Given the description of an element on the screen output the (x, y) to click on. 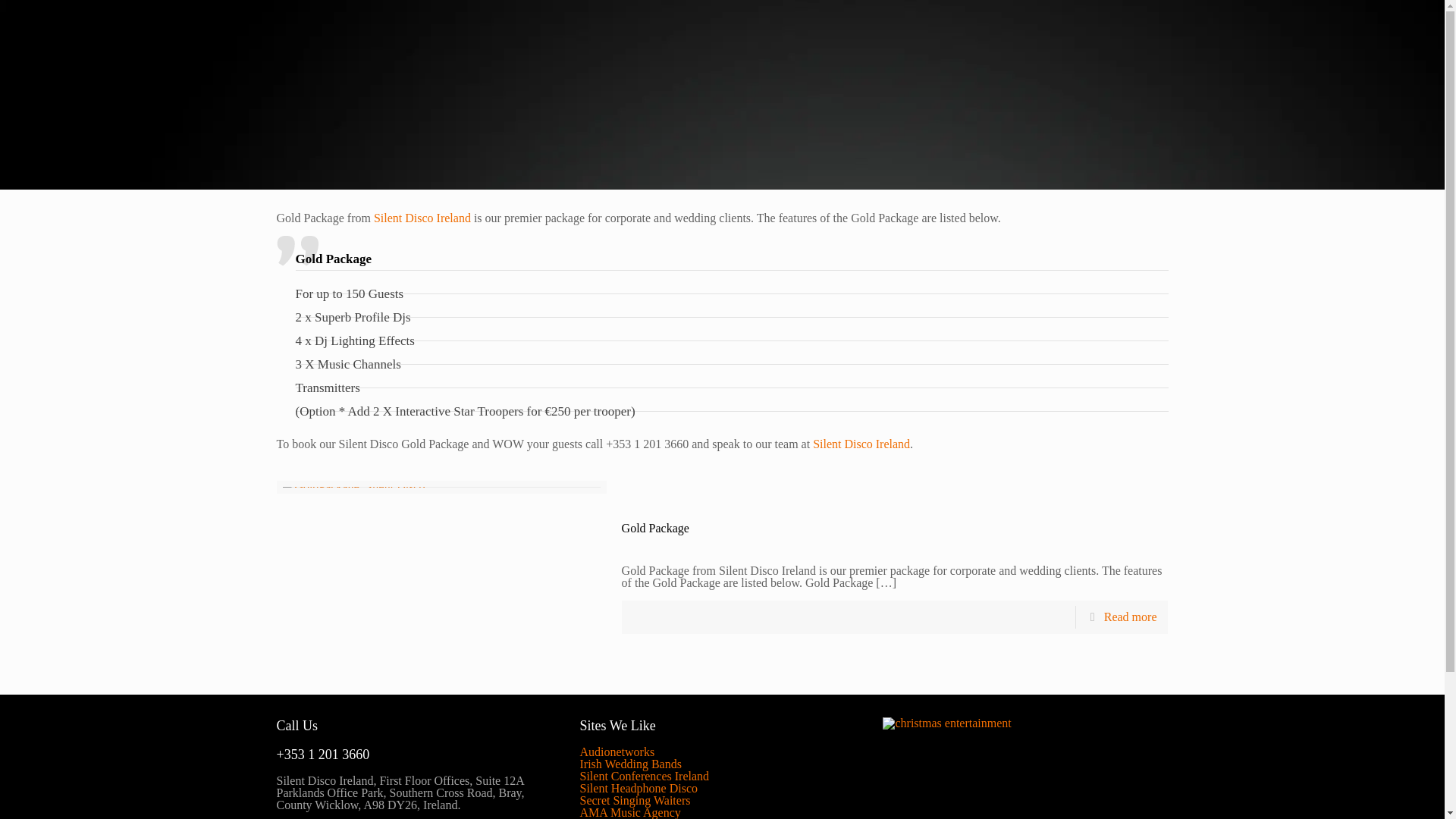
Irish Wedding Bands (630, 763)
Silent Conferences Ireland (644, 775)
Silent Headphone Disco (638, 788)
AMA Music Agency (629, 812)
Silent Disco Ireland (861, 443)
Gold Package (654, 527)
Silent Disco Ireland (422, 217)
Star Troopers (487, 411)
Audionetworks (616, 751)
Sax and DJ (606, 818)
Read more (1130, 616)
Silent Disco Ireland (861, 443)
Gold Package 2 (353, 492)
Star Troopers (487, 411)
Secret Singing Waiters (634, 799)
